Given the description of an element on the screen output the (x, y) to click on. 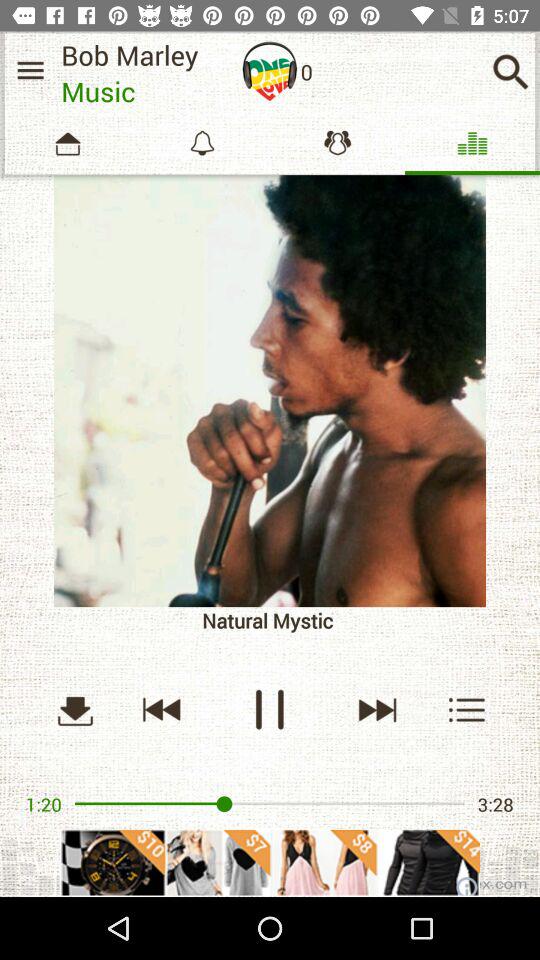
downloads song (75, 709)
